Given the description of an element on the screen output the (x, y) to click on. 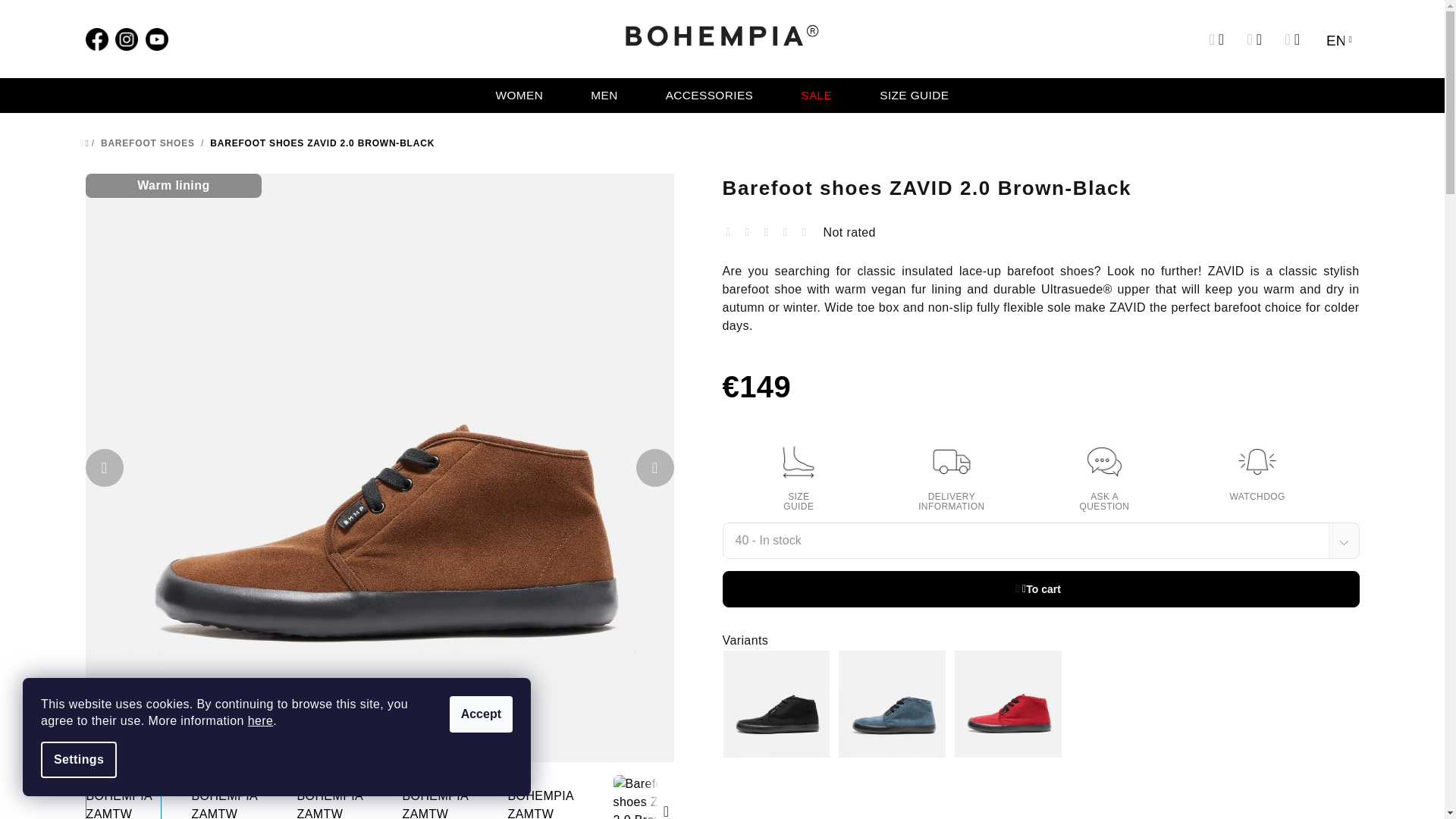
MEN (603, 95)
ACCESSORIES (709, 95)
WOMEN (519, 95)
